Given the description of an element on the screen output the (x, y) to click on. 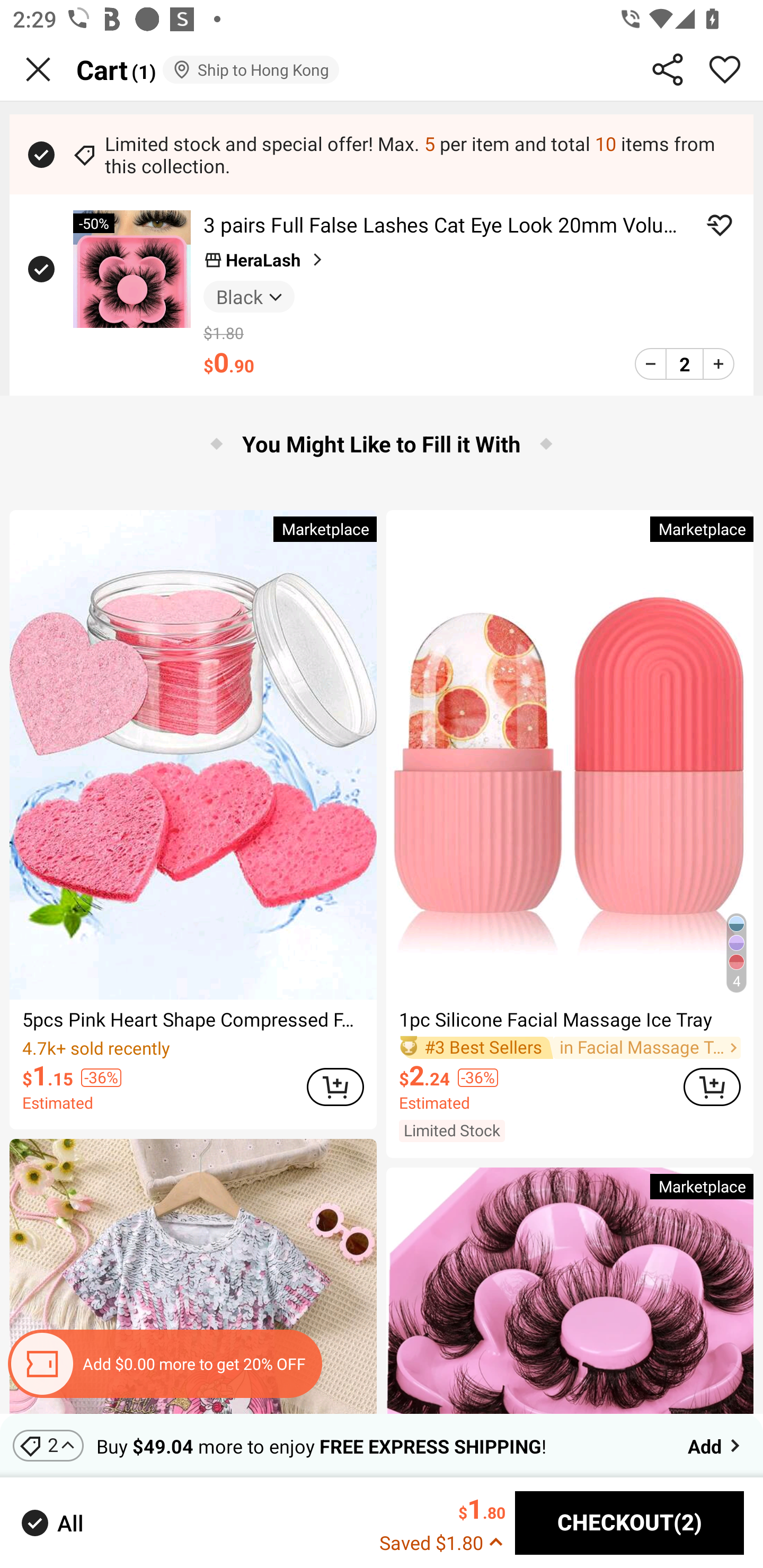
BACK Cart (1) Ship to Hong Kong Share Wishlist (381, 69)
BACK (38, 68)
Wishlist (724, 68)
Share (667, 68)
Ship to Hong Kong (250, 68)
ADD TO WISHLIST (719, 224)
HeraLash (264, 259)
Black (248, 296)
product quantity minus 1 (650, 363)
2 edit product quantity (684, 363)
product quantity add 1 (718, 363)
#3 Best Sellers in Facial Massage Tools (569, 1046)
ADD TO CART (334, 1086)
ADD TO CART (711, 1086)
SHEIN Young Girl Cartoon Printed Dress (192, 1276)
Coupon Alert Add $0.00 more to get 20% OFF (164, 1363)
2 (48, 1445)
Add (715, 1445)
CHECKOUT(2) (629, 1523)
All (51, 1522)
